Given the description of an element on the screen output the (x, y) to click on. 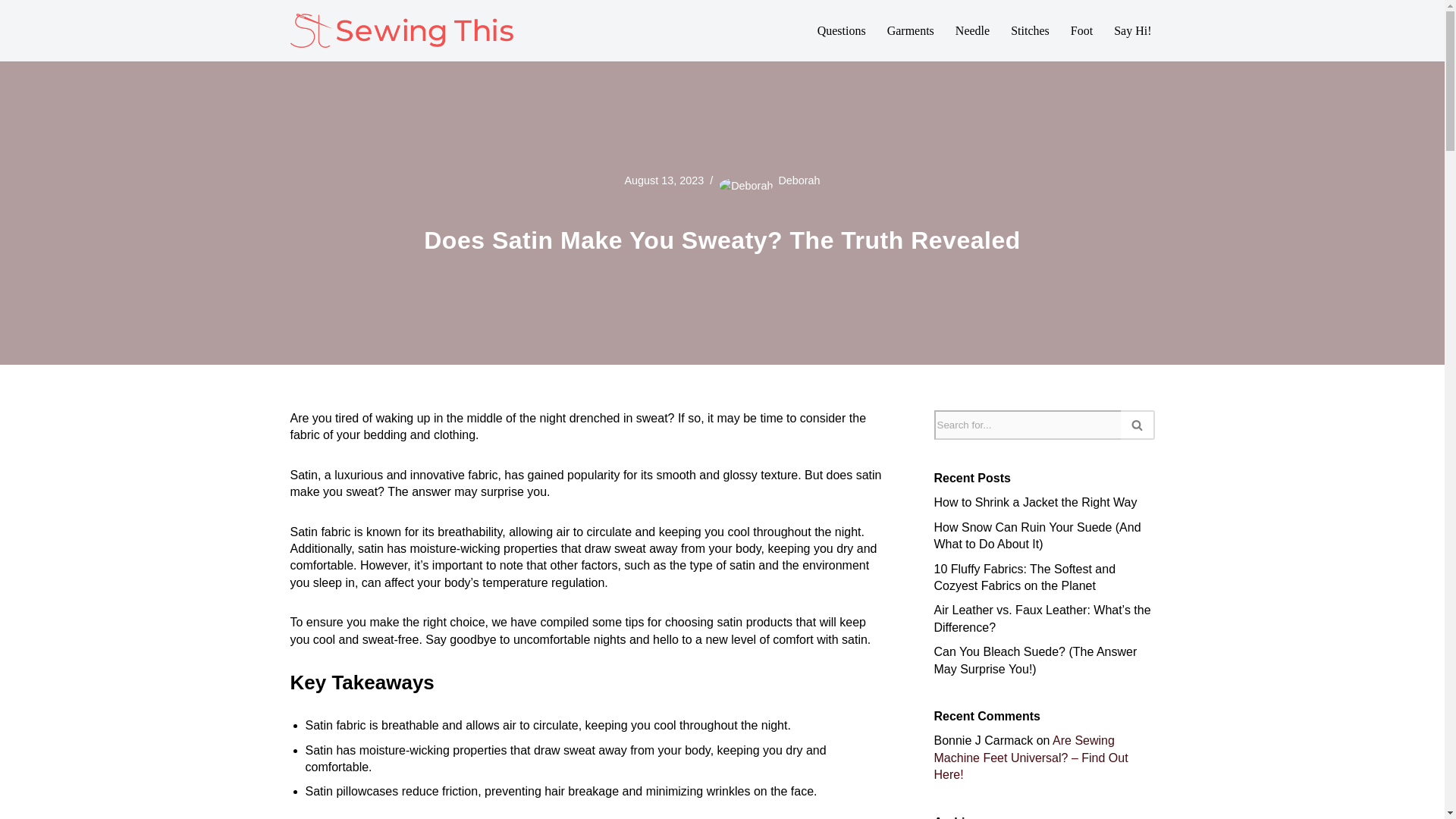
Skip to content (11, 31)
Stitches (1029, 30)
Needle (972, 30)
How to Shrink a Jacket the Right Way (1035, 502)
Questions (841, 30)
Say Hi! (1132, 30)
Foot (1081, 30)
Posts by Deborah (798, 180)
Deborah (798, 180)
Garments (910, 30)
